Given the description of an element on the screen output the (x, y) to click on. 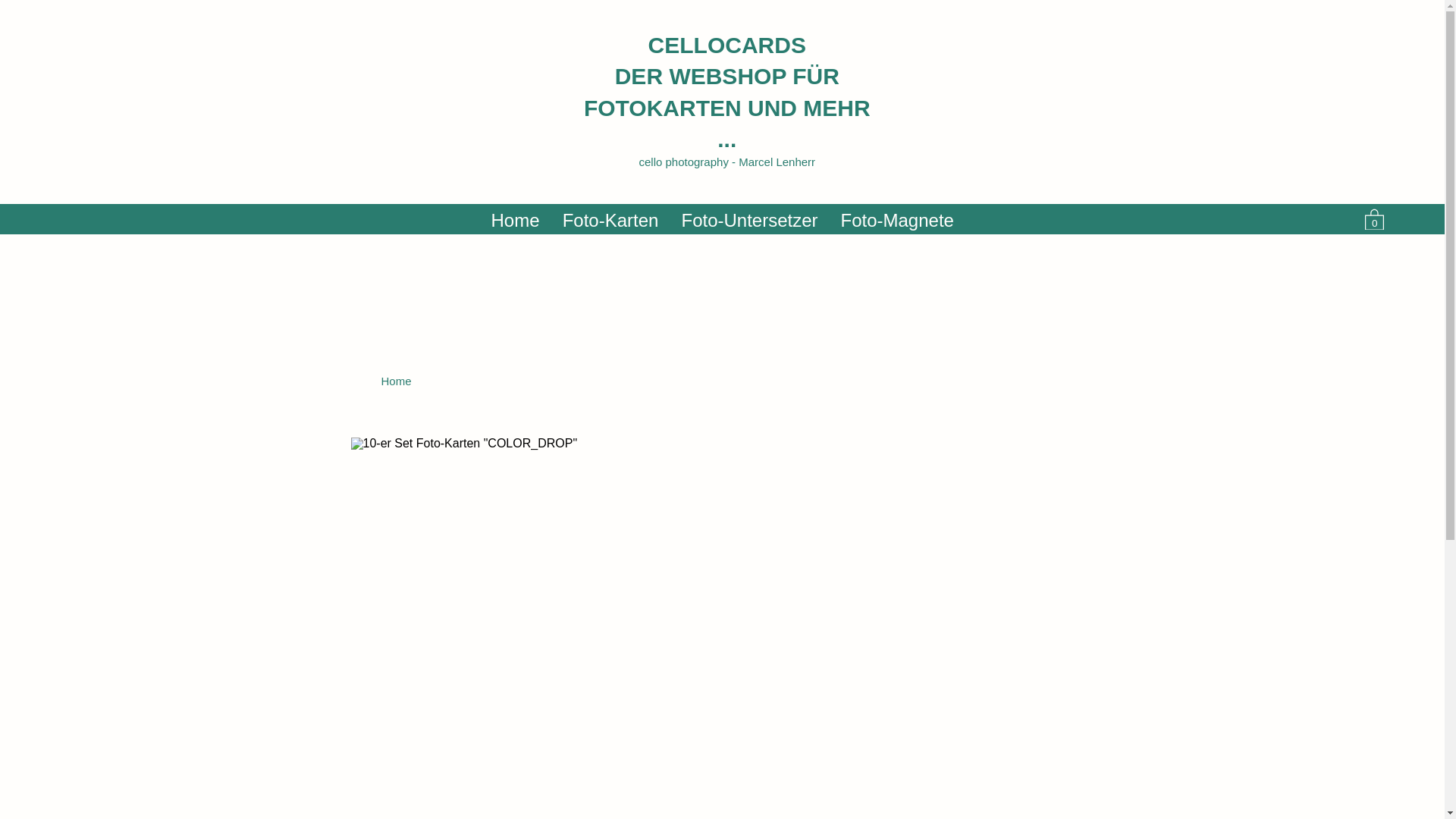
Foto-Karten Element type: text (609, 218)
Home Element type: text (395, 380)
Foto-Magnete Element type: text (897, 218)
Home Element type: text (514, 218)
0 Element type: text (1374, 218)
Foto-Untersetzer Element type: text (749, 218)
